Given the description of an element on the screen output the (x, y) to click on. 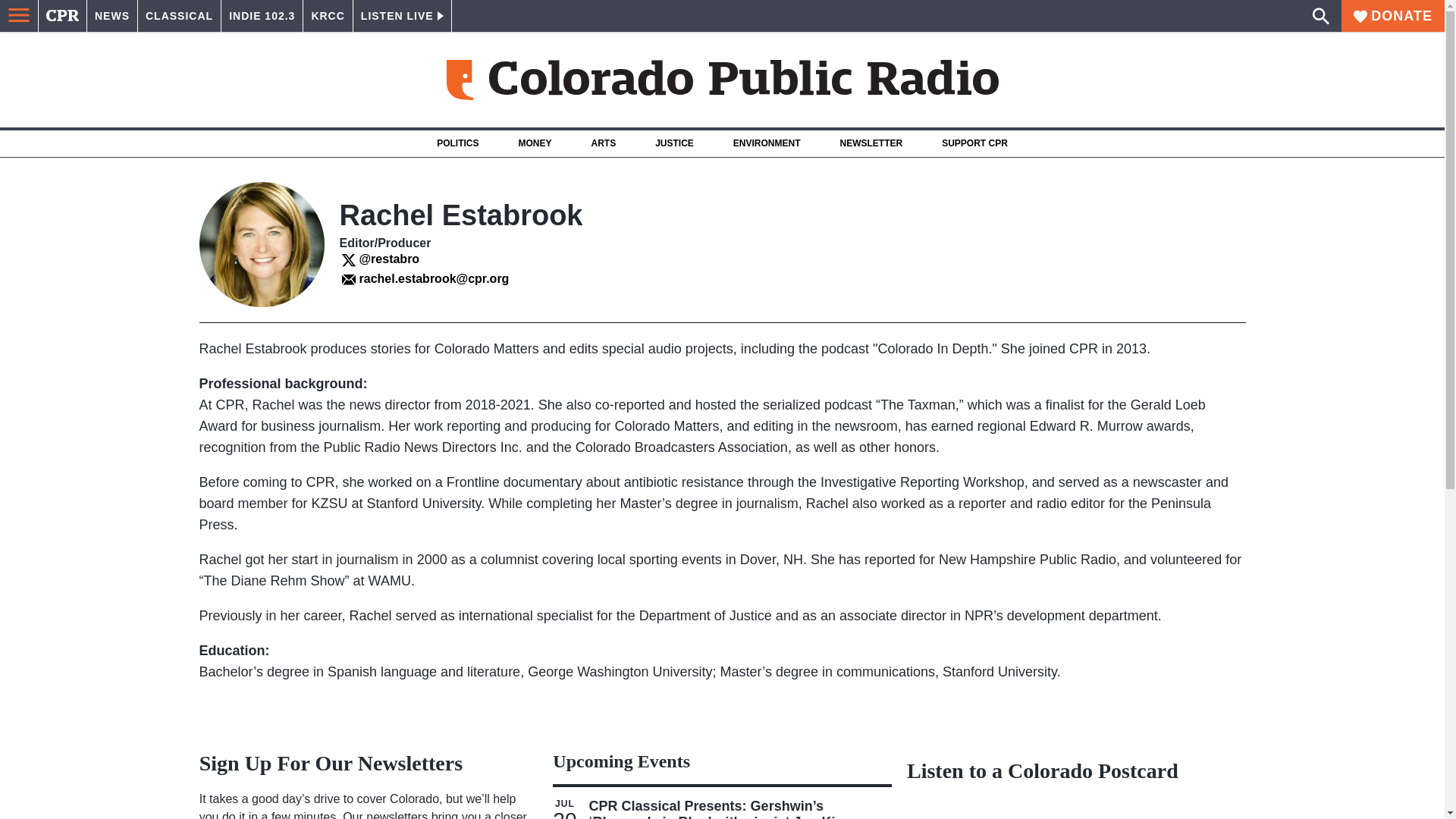
LISTEN LIVE (402, 15)
KRCC (327, 15)
INDIE 102.3 (261, 15)
CLASSICAL (179, 15)
NEWS (111, 15)
